Given the description of an element on the screen output the (x, y) to click on. 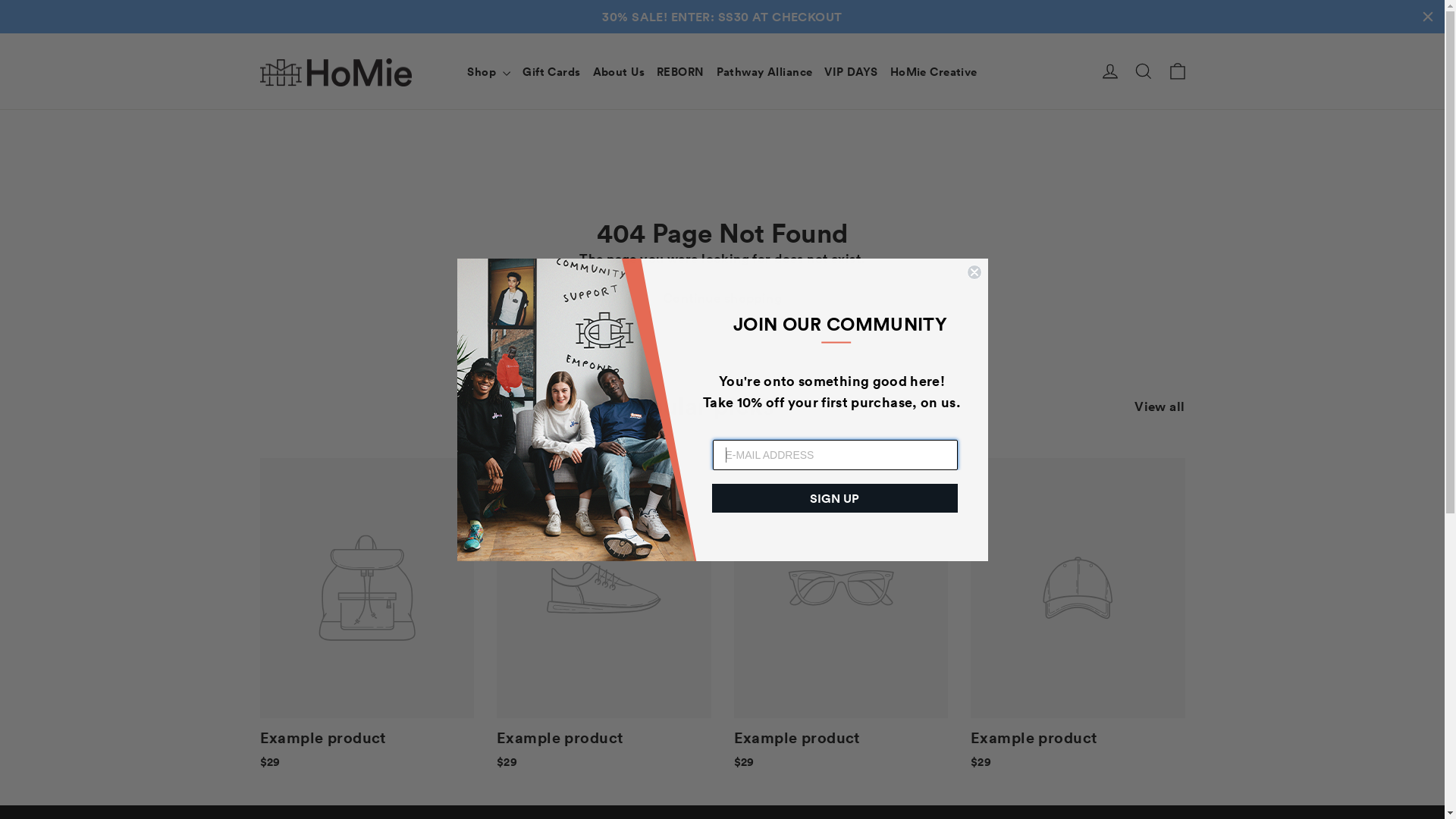
REBORN Element type: text (680, 37)
Pathway Alliance Element type: text (764, 37)
Gift Cards Element type: text (551, 37)
Cart Element type: text (1176, 37)
Search Element type: text (1143, 37)
Submit Element type: text (30, 17)
Continue shopping Element type: text (721, 264)
Example product
$29 Element type: text (1077, 582)
About Us Element type: text (618, 37)
Example product
$29 Element type: text (366, 582)
Log in Element type: text (1109, 37)
Shop Element type: text (488, 37)
View all Element type: text (1159, 369)
Example product
$29 Element type: text (603, 582)
Example product
$29 Element type: text (841, 582)
VIP DAYS Element type: text (850, 37)
SIGN UP Element type: text (834, 497)
HoMie Creative Element type: text (933, 37)
